Given the description of an element on the screen output the (x, y) to click on. 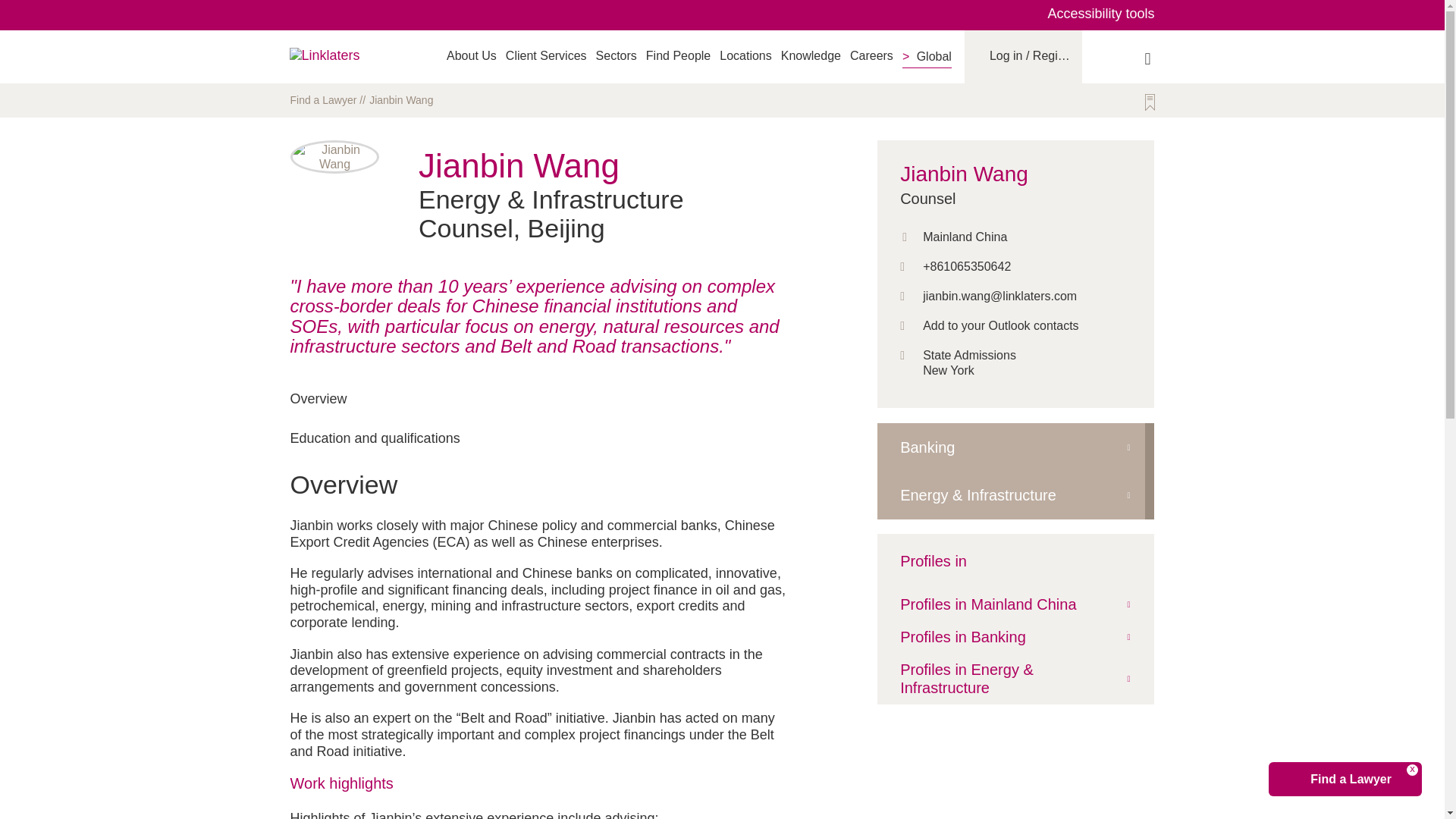
Knowledge (810, 55)
Sectors (616, 55)
Client Services (545, 55)
Find People (678, 55)
Careers (871, 55)
About Us (471, 55)
Locations (745, 55)
